Given the description of an element on the screen output the (x, y) to click on. 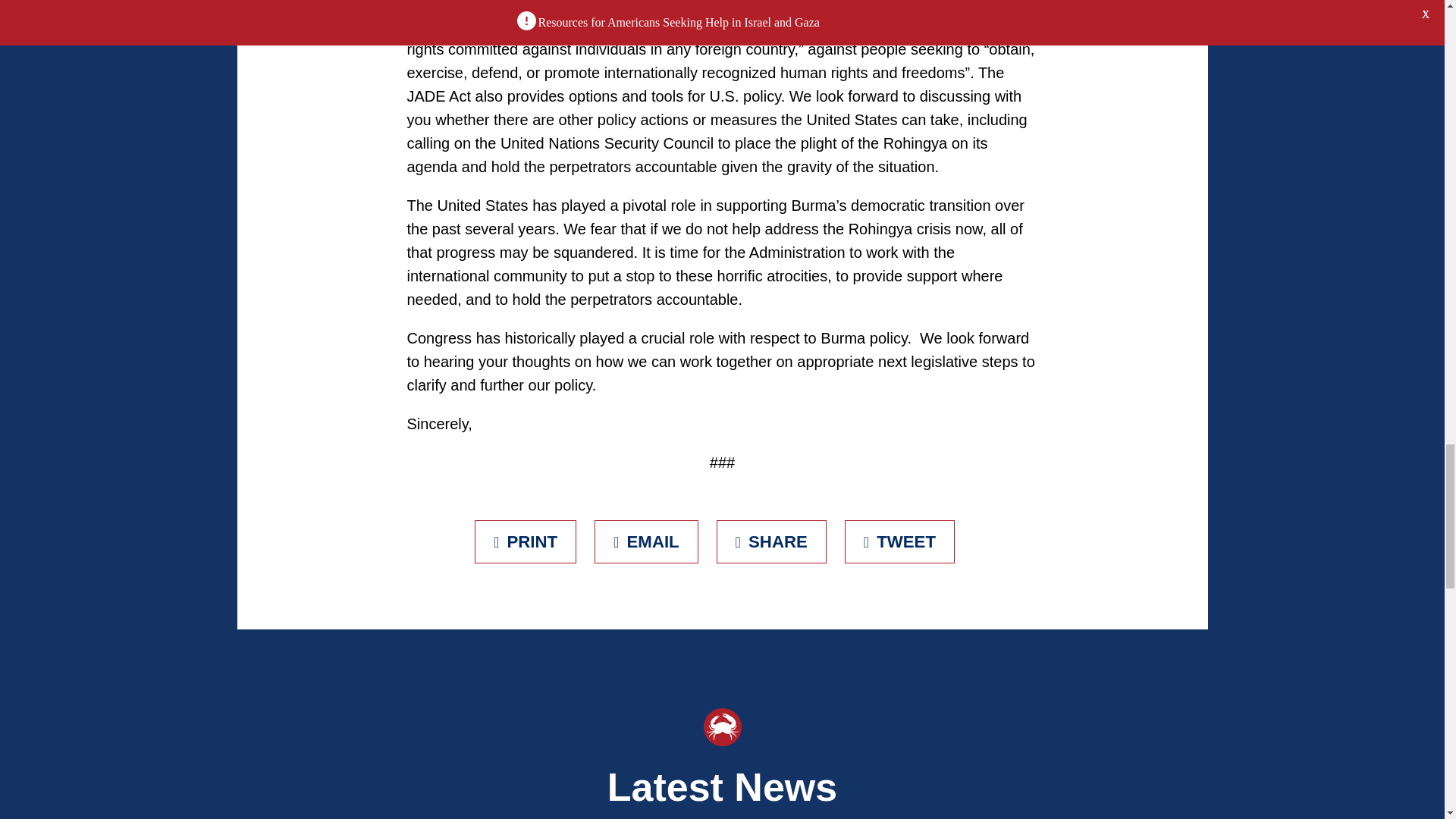
Tweet (899, 541)
Print (525, 541)
Crab (722, 727)
Email (646, 541)
Share on Facebook (771, 541)
